Given the description of an element on the screen output the (x, y) to click on. 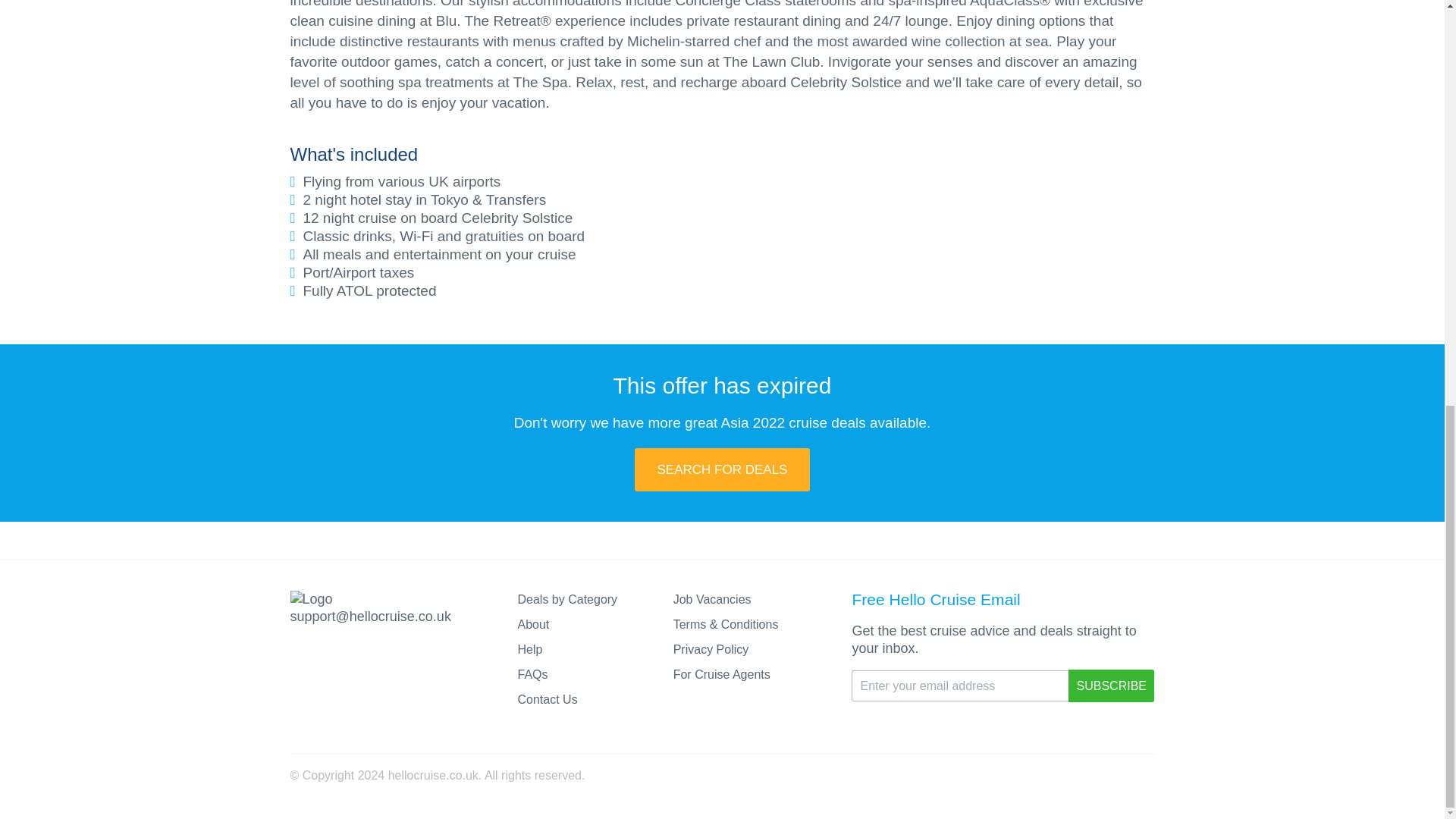
subscribe (1111, 685)
Job Vacancies (711, 599)
Help (528, 649)
subscribe (1111, 685)
Privacy Policy (710, 649)
FAQs (531, 674)
Deals by Category (566, 599)
For Cruise Agents (721, 674)
SEARCH FOR DEALS (722, 469)
Contact Us (546, 698)
About (532, 624)
